Given the description of an element on the screen output the (x, y) to click on. 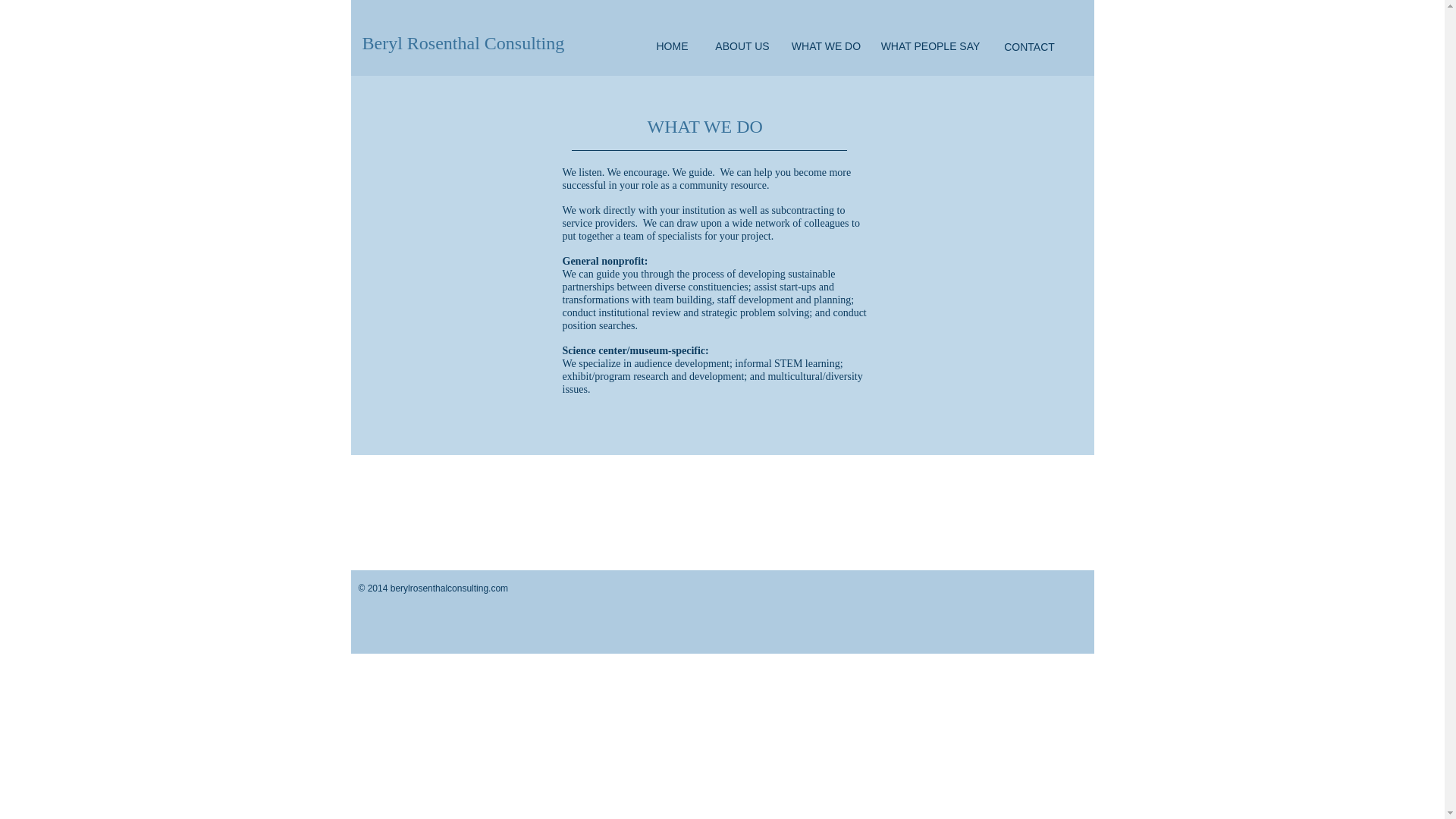
WHAT PEOPLE SAY (929, 46)
HOME (672, 46)
WHAT WE DO (825, 46)
ABOUT US (742, 46)
CONTACT (1028, 47)
